Given the description of an element on the screen output the (x, y) to click on. 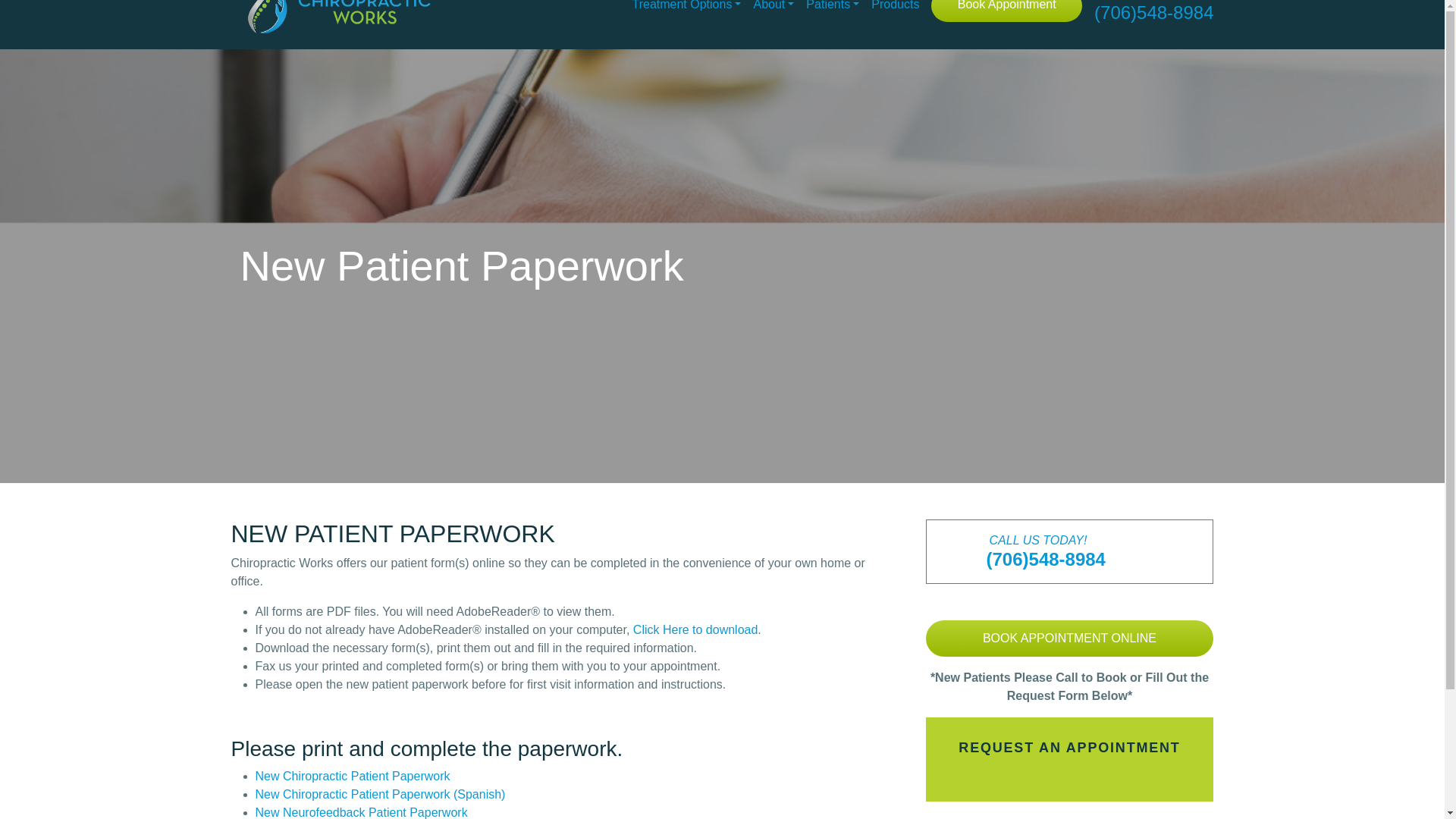
Treatment Options (686, 9)
Treatment Options (686, 9)
About (772, 9)
